Given the description of an element on the screen output the (x, y) to click on. 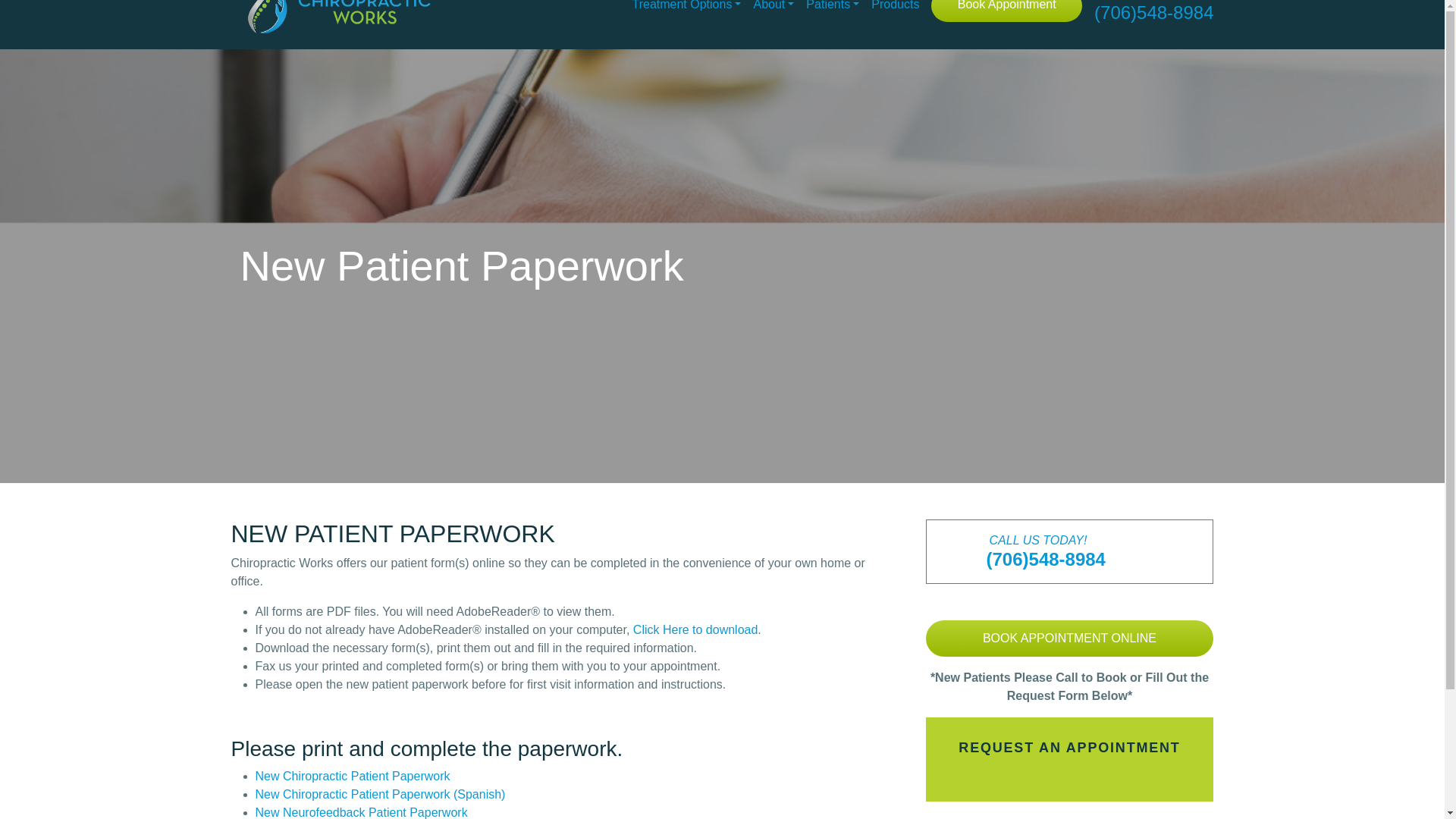
Treatment Options (686, 9)
Treatment Options (686, 9)
About (772, 9)
